Given the description of an element on the screen output the (x, y) to click on. 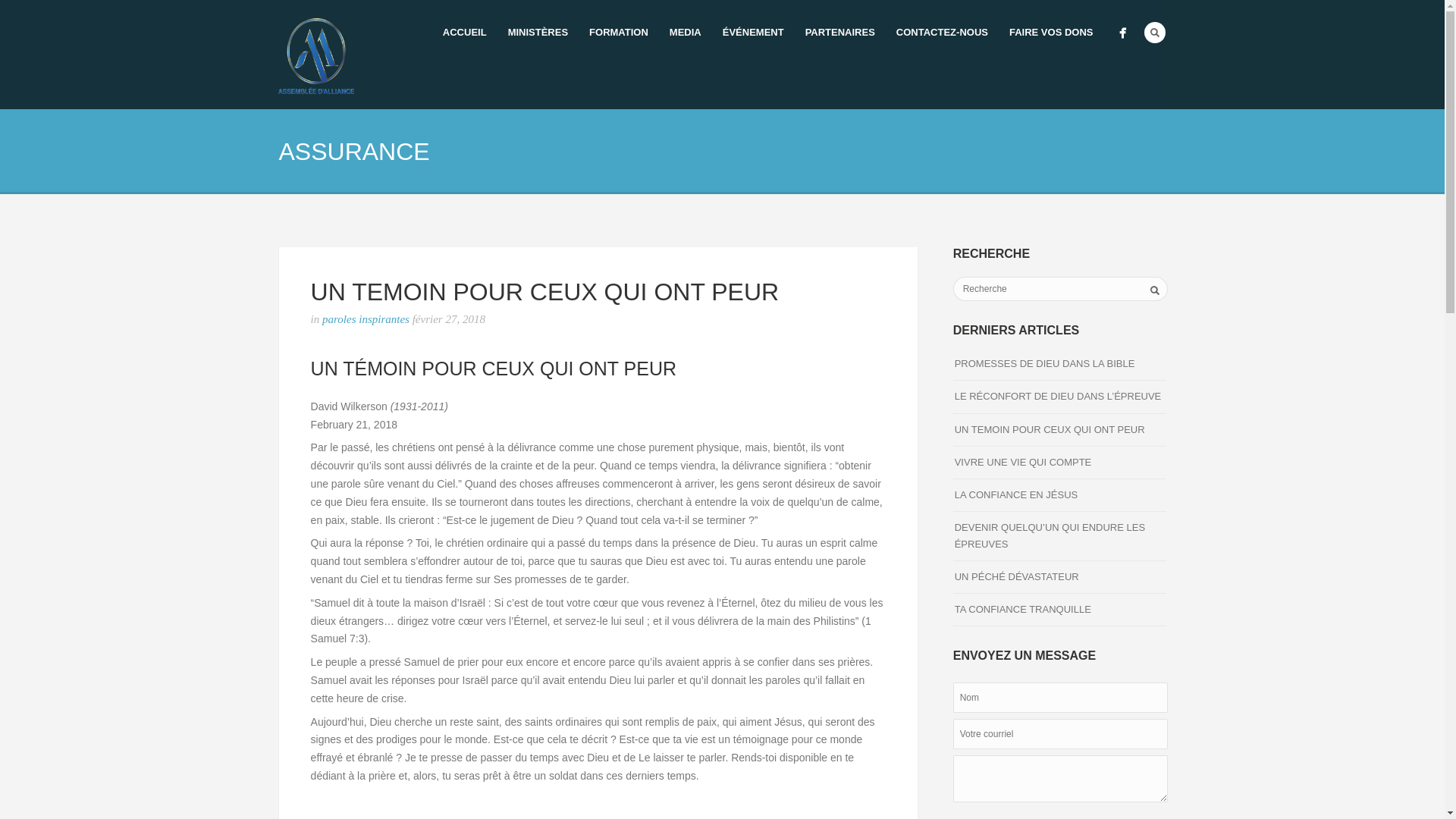
MEDIA Element type: text (685, 32)
UN TEMOIN POUR CEUX QUI ONT PEUR Element type: text (1049, 429)
paroles inspirantes Element type: text (365, 319)
PARTENAIRES Element type: text (839, 32)
Search Element type: text (1154, 32)
PROMESSES DE DIEU DANS LA BIBLE Element type: text (1044, 363)
Aimez-nous sur Facebook Element type: hover (1122, 32)
UN TEMOIN POUR CEUX QUI ONT PEUR Element type: text (544, 291)
VIVRE UNE VIE QUI COMPTE Element type: text (1023, 461)
FAIRE VOS DONS Element type: text (1051, 32)
TA CONFIANCE TRANQUILLE Element type: text (1022, 608)
CONTACTEZ-NOUS Element type: text (941, 32)
FORMATION Element type: text (618, 32)
ACCUEIL Element type: text (464, 32)
